Given the description of an element on the screen output the (x, y) to click on. 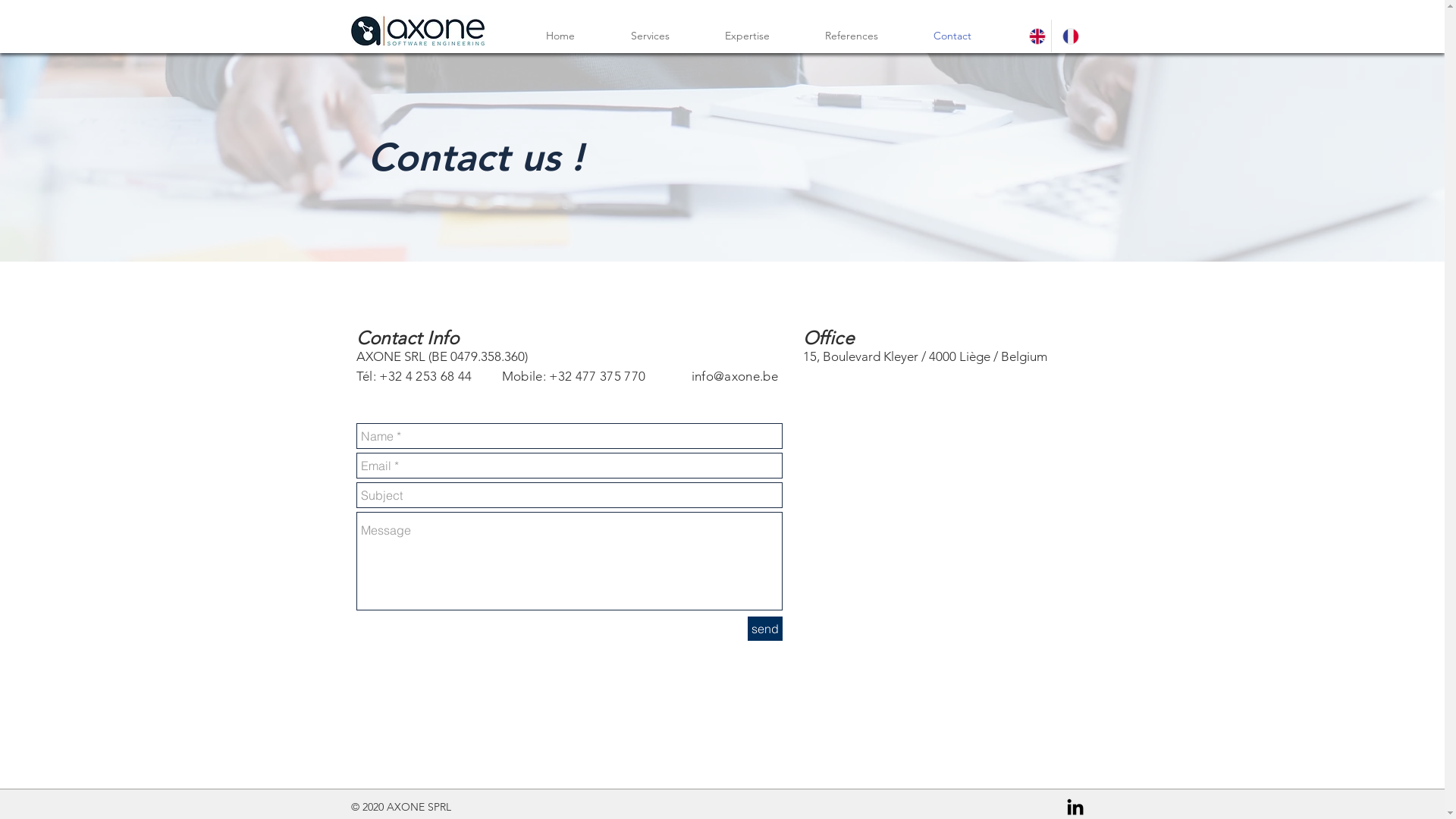
Services Element type: text (649, 35)
Contact Element type: text (951, 35)
Google Maps Element type: hover (944, 531)
info@axone.be Element type: text (734, 375)
References Element type: text (851, 35)
Axone SPRL Element type: hover (417, 30)
Home Element type: text (559, 35)
Expertise Element type: text (747, 35)
send Element type: text (764, 628)
